Given the description of an element on the screen output the (x, y) to click on. 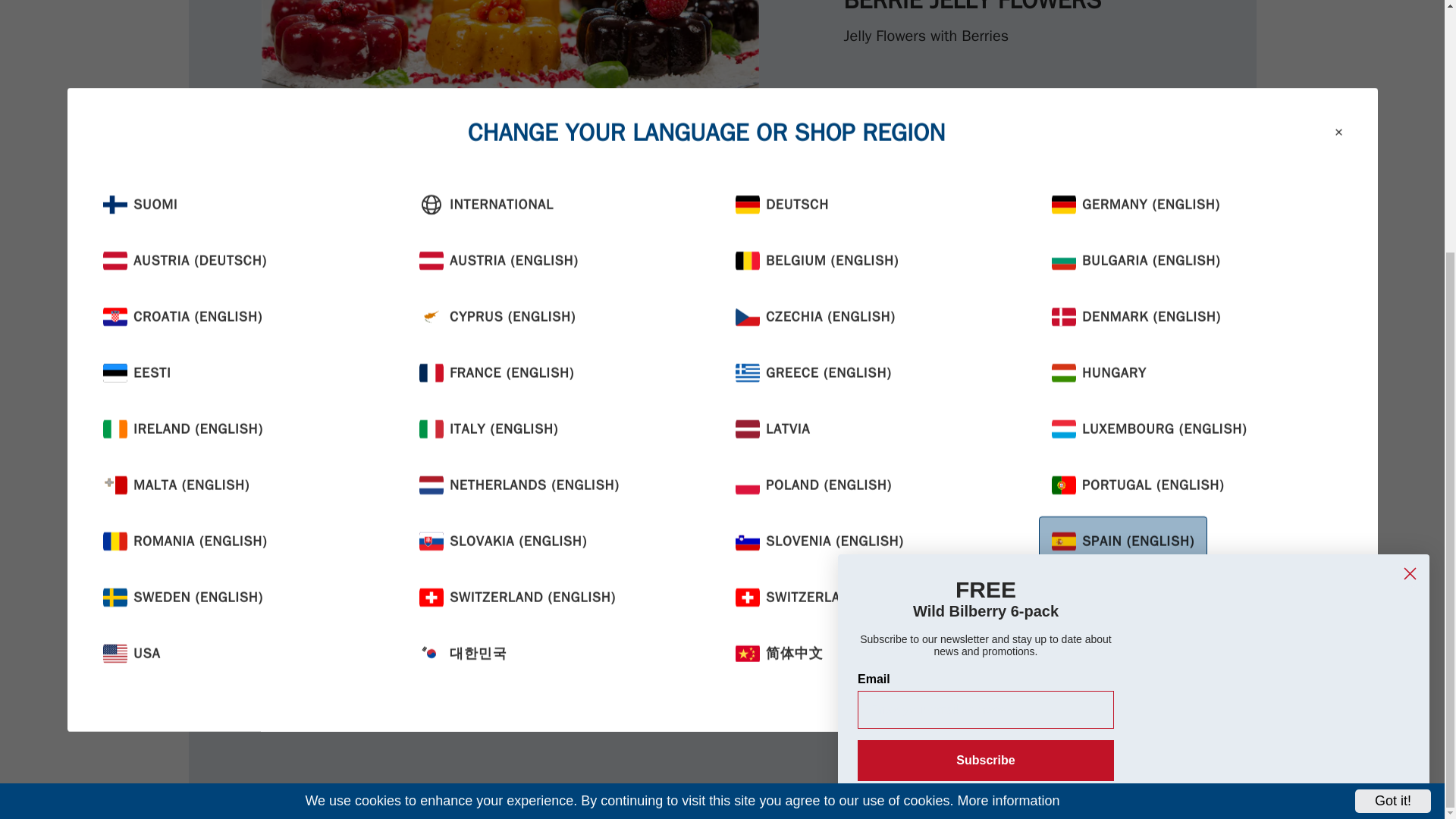
FOR BUSINESSES (724, 606)
MORE ABOUT BERRIES (740, 533)
BERRIE PARTNER (722, 570)
RECURRING ORDER (730, 642)
SHOP (687, 497)
OUR STORY (706, 678)
